Given the description of an element on the screen output the (x, y) to click on. 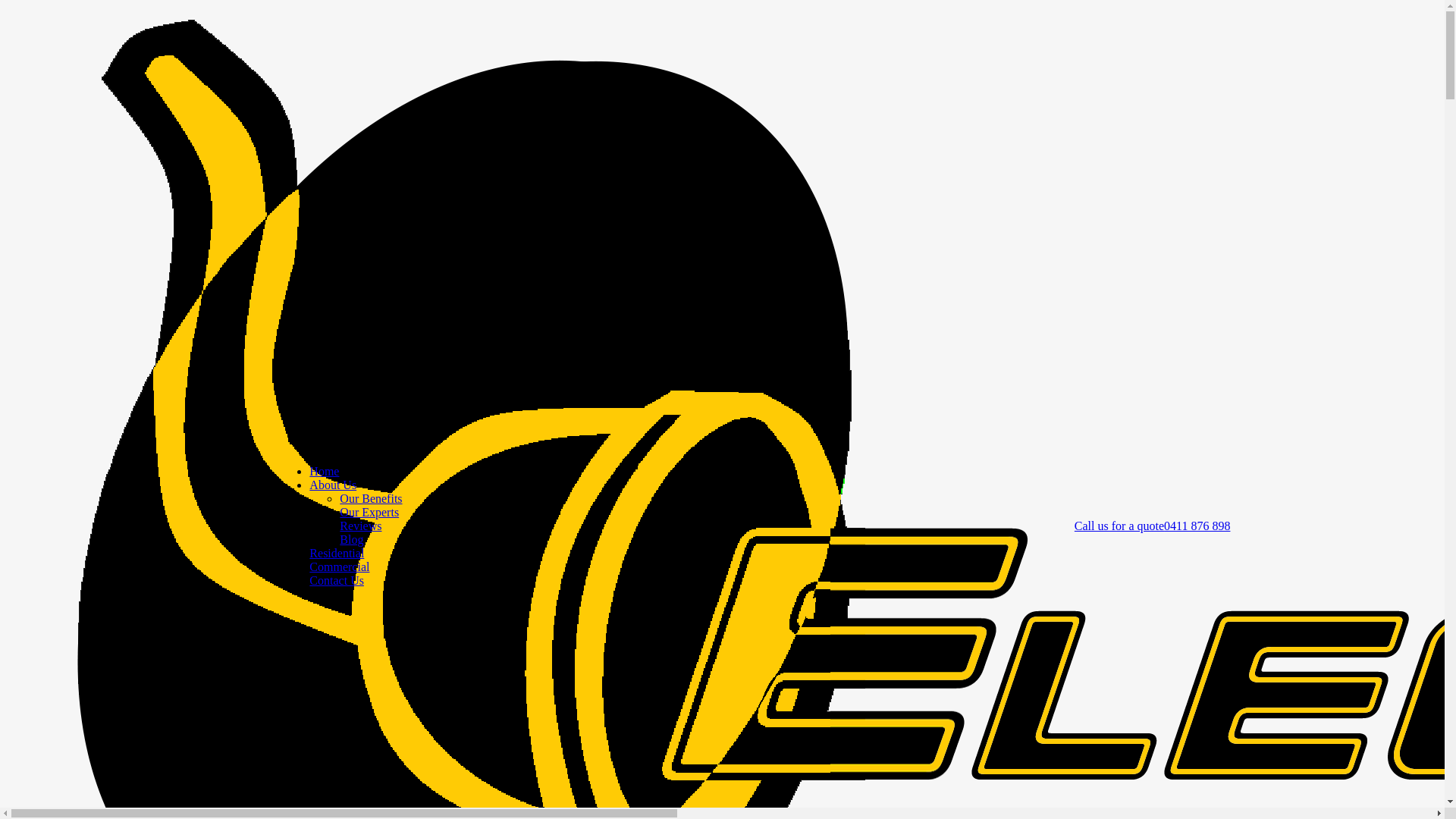
Blog Element type: text (351, 539)
Residential Element type: text (336, 552)
Our Benefits Element type: text (370, 498)
About Us Element type: text (332, 484)
Call us for a quote0411 876 898 Element type: text (1152, 525)
Home Element type: text (323, 470)
Our Experts Element type: text (368, 511)
Reviews Element type: text (360, 525)
Contact Us Element type: text (336, 580)
Commercial Element type: text (339, 566)
